Given the description of an element on the screen output the (x, y) to click on. 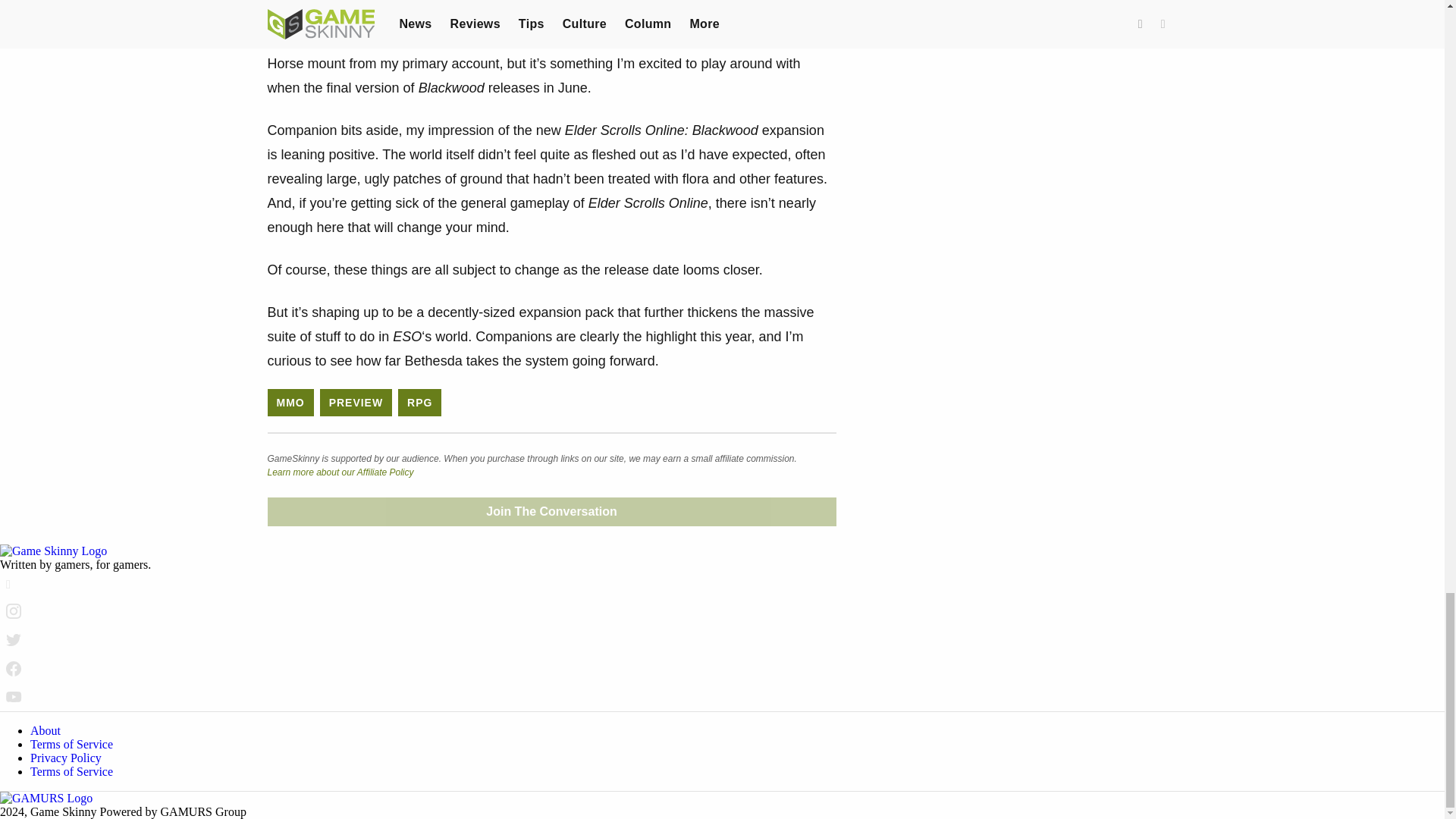
Join The Conversation (550, 511)
